Given the description of an element on the screen output the (x, y) to click on. 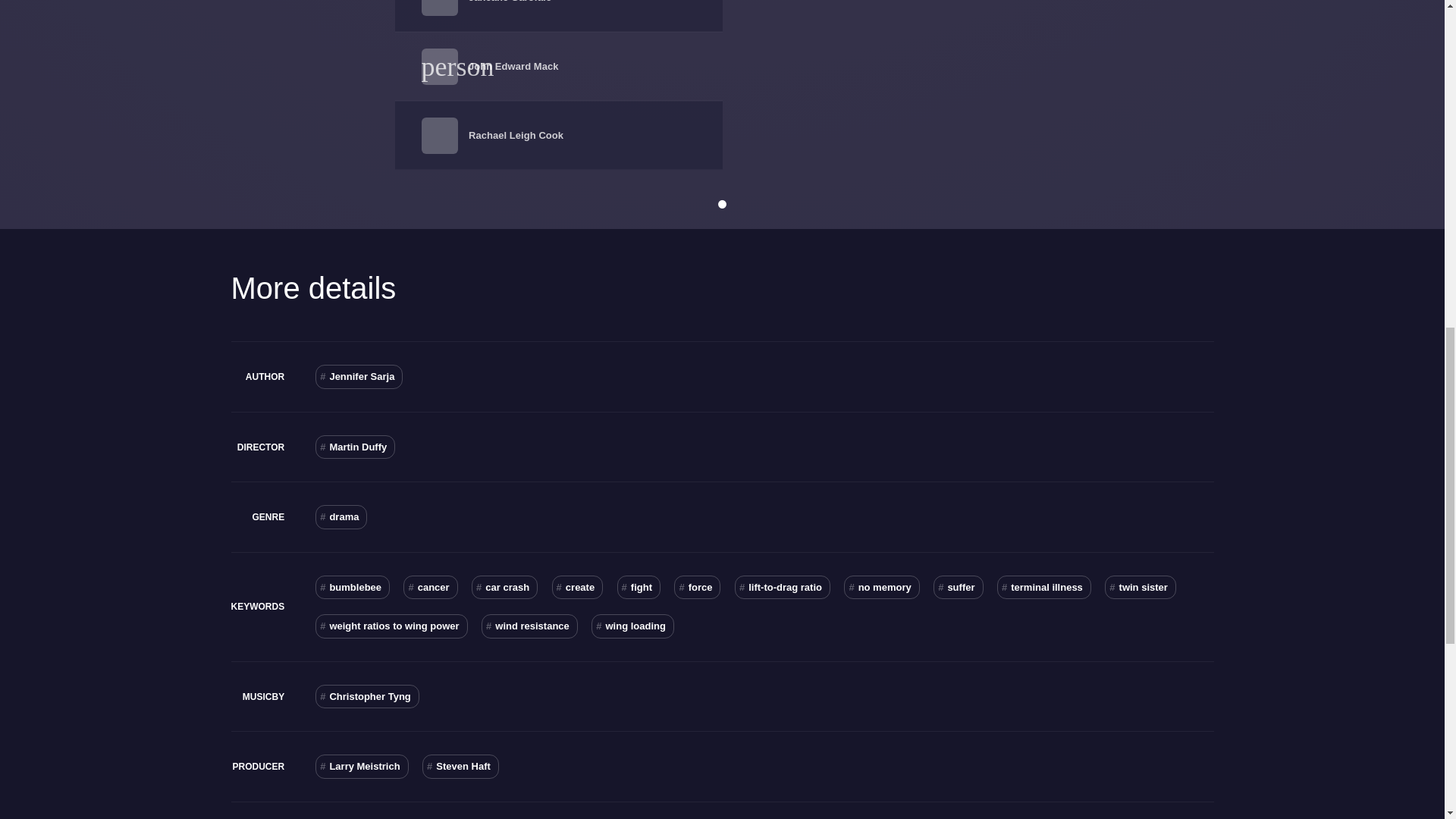
bumblebee (352, 587)
no memory (881, 587)
lift-to-drag ratio (782, 587)
Martin Duffy (354, 446)
Rachael Leigh Cook (515, 134)
suffer (957, 587)
Janeane Garofalo (509, 1)
Jennifer Sarja (359, 376)
cancer (430, 587)
force (697, 587)
